Given the description of an element on the screen output the (x, y) to click on. 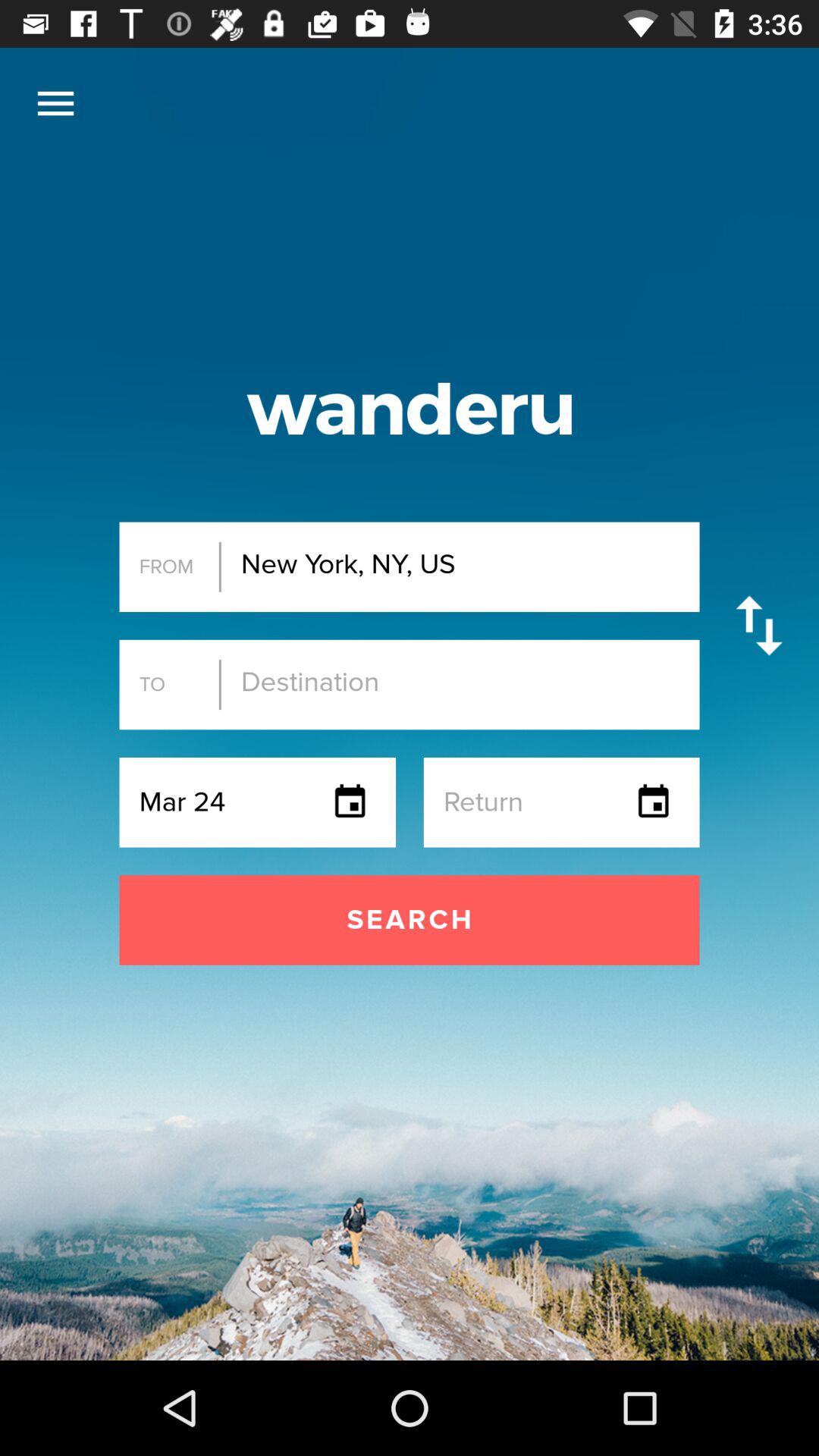
click the icon next to new york ny icon (759, 625)
